Given the description of an element on the screen output the (x, y) to click on. 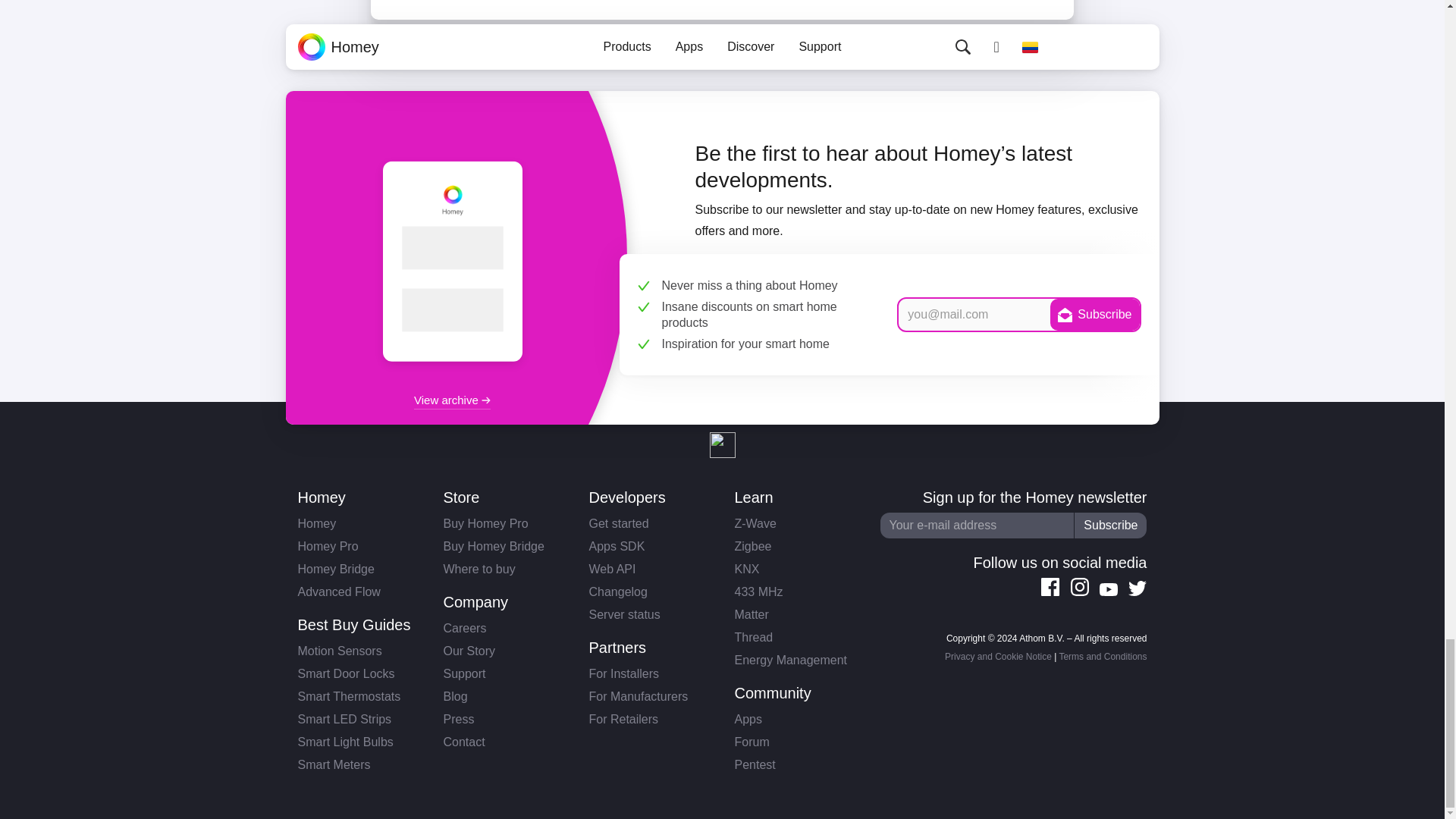
Subscribe (1093, 314)
Subscribe (1110, 525)
